Given the description of an element on the screen output the (x, y) to click on. 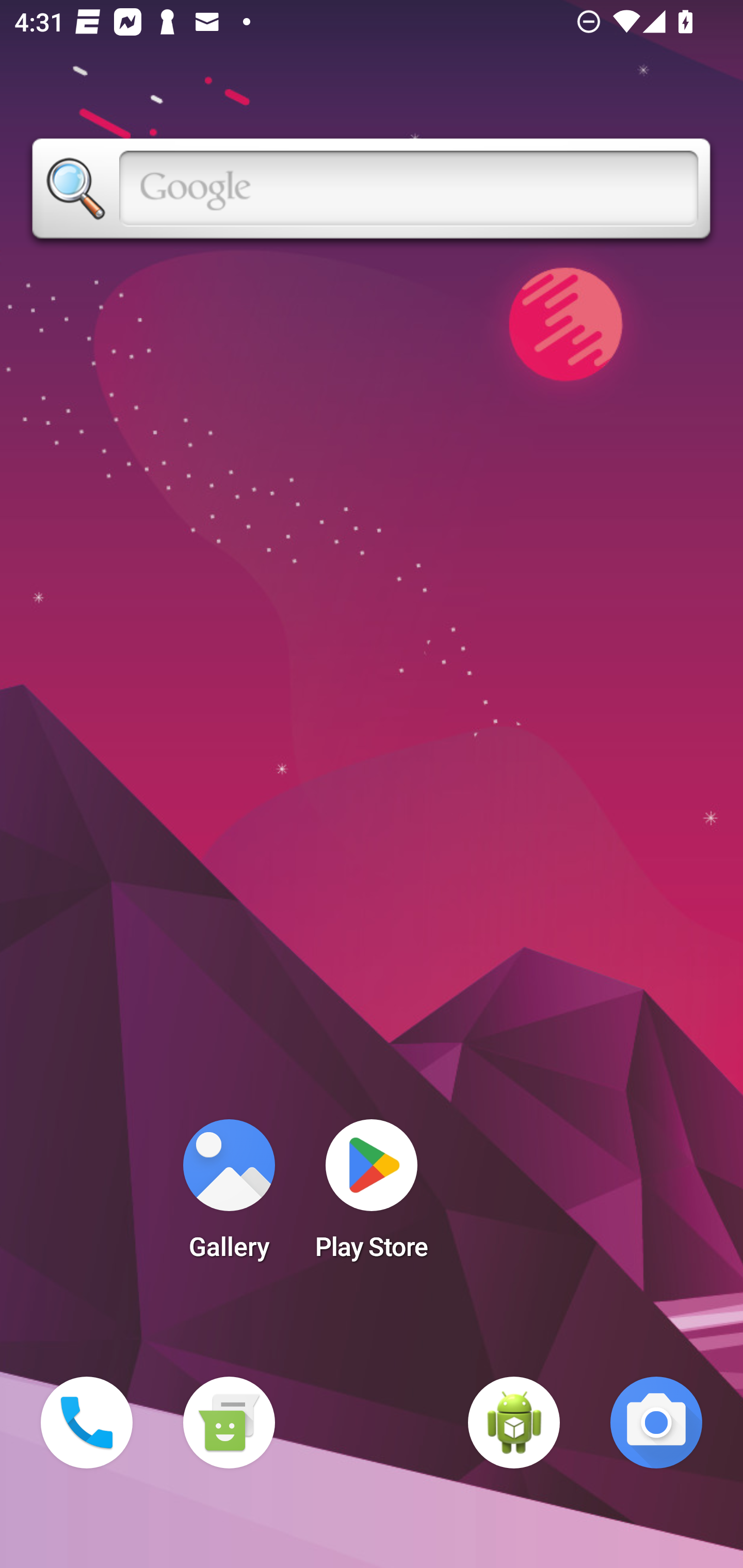
Gallery (228, 1195)
Play Store (371, 1195)
Phone (86, 1422)
Messaging (228, 1422)
WebView Browser Tester (513, 1422)
Camera (656, 1422)
